Given the description of an element on the screen output the (x, y) to click on. 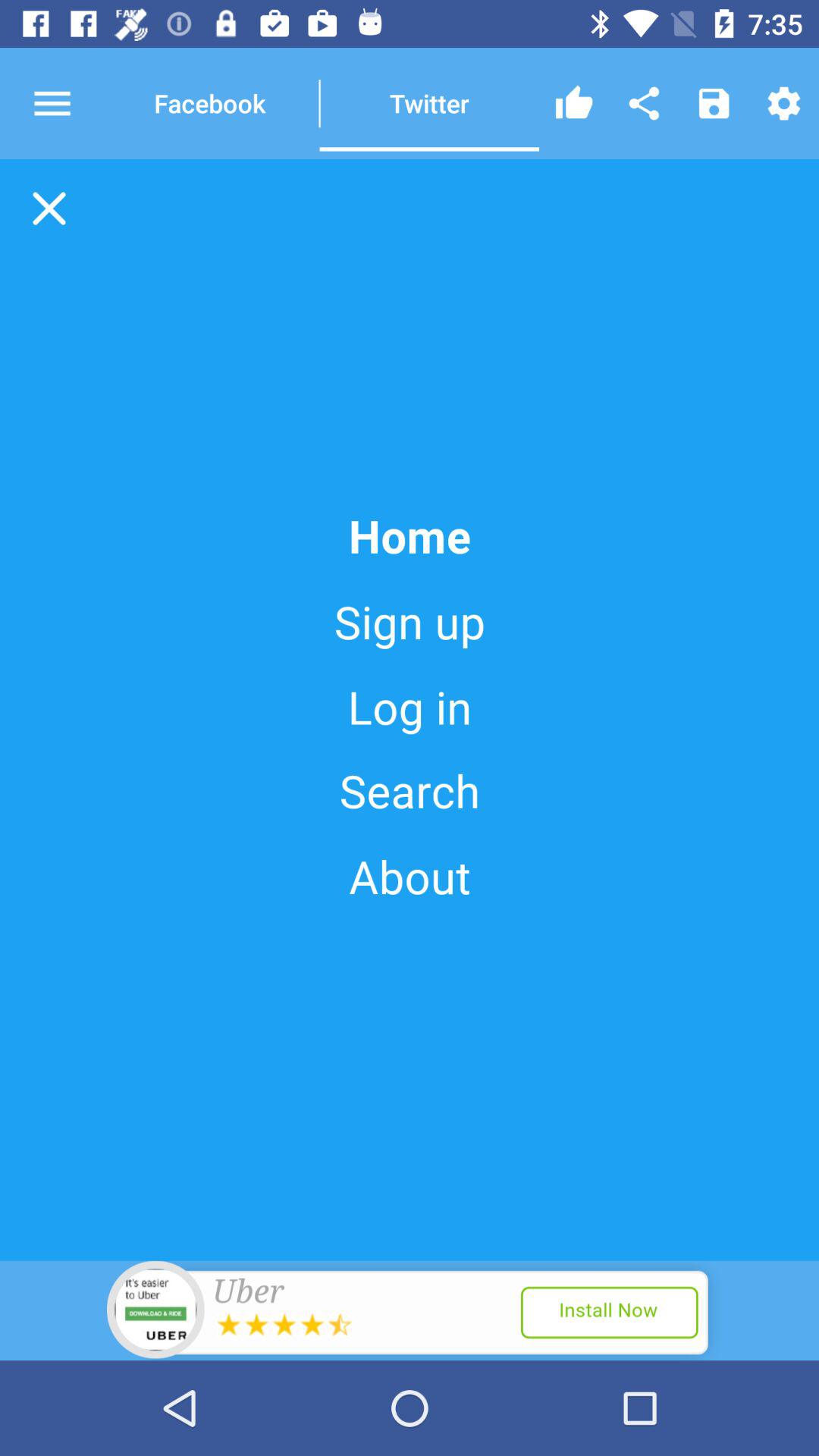
like (574, 103)
